Given the description of an element on the screen output the (x, y) to click on. 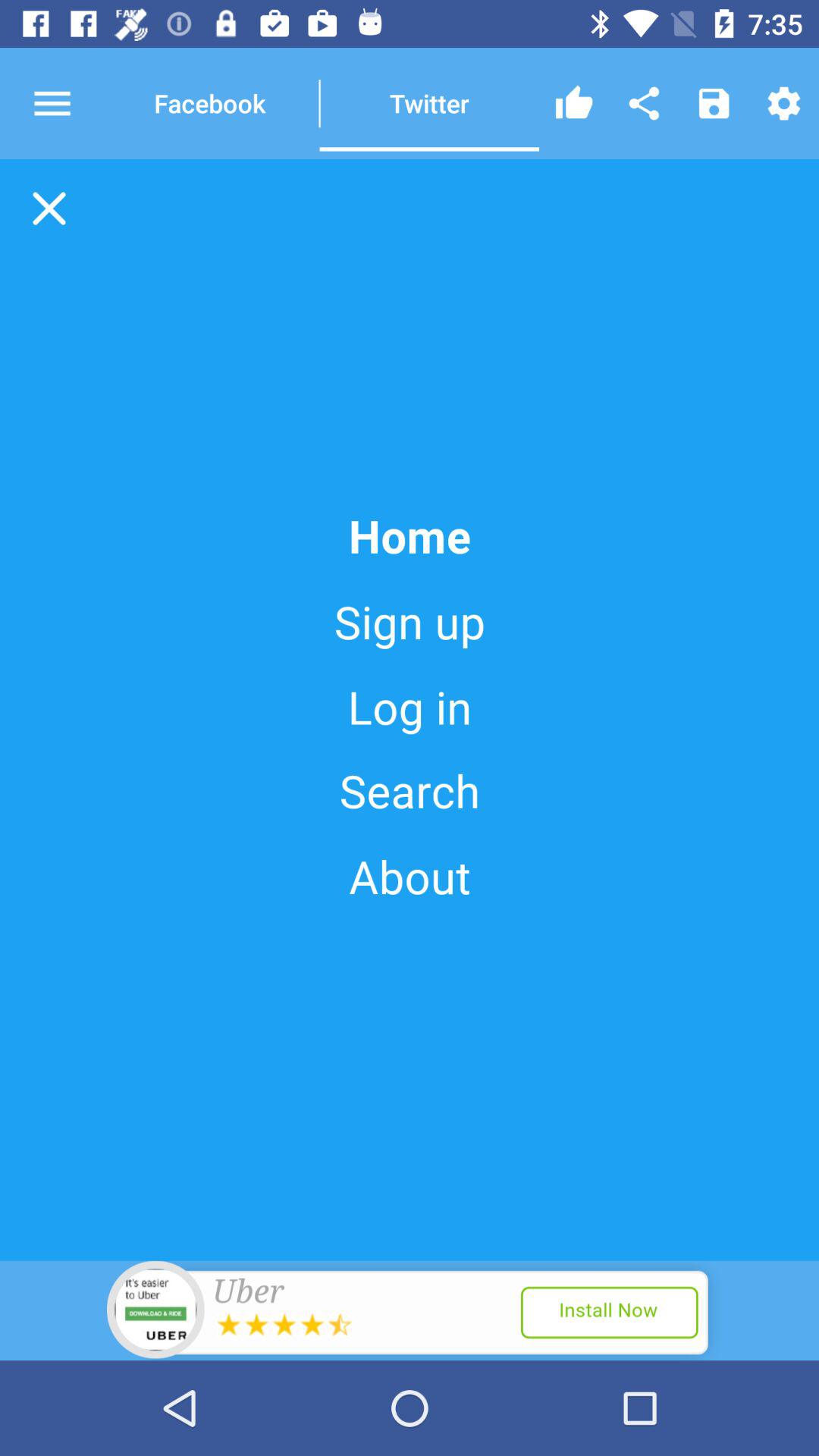
like (574, 103)
